Given the description of an element on the screen output the (x, y) to click on. 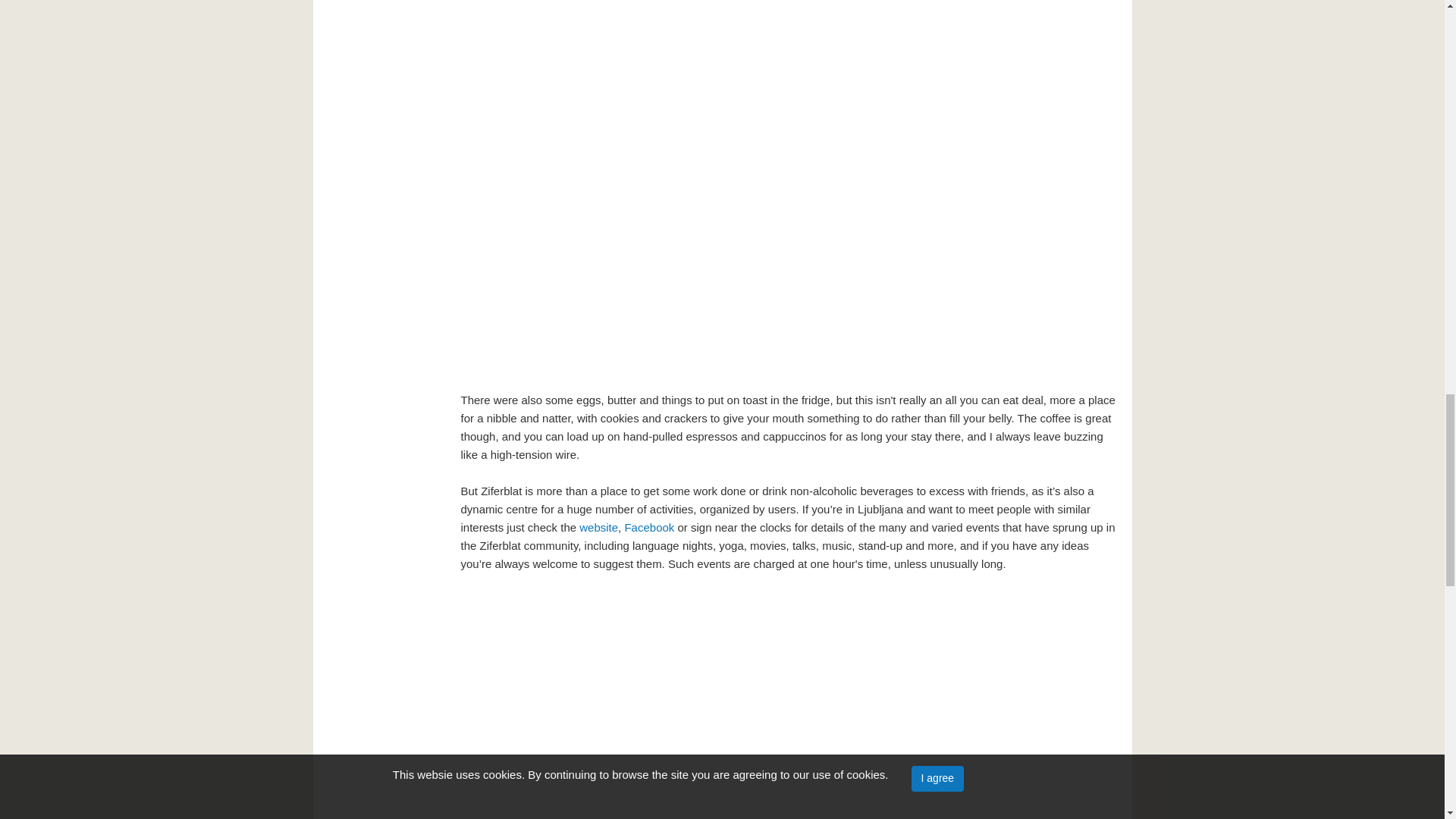
website (598, 526)
Facebook (650, 526)
